Given the description of an element on the screen output the (x, y) to click on. 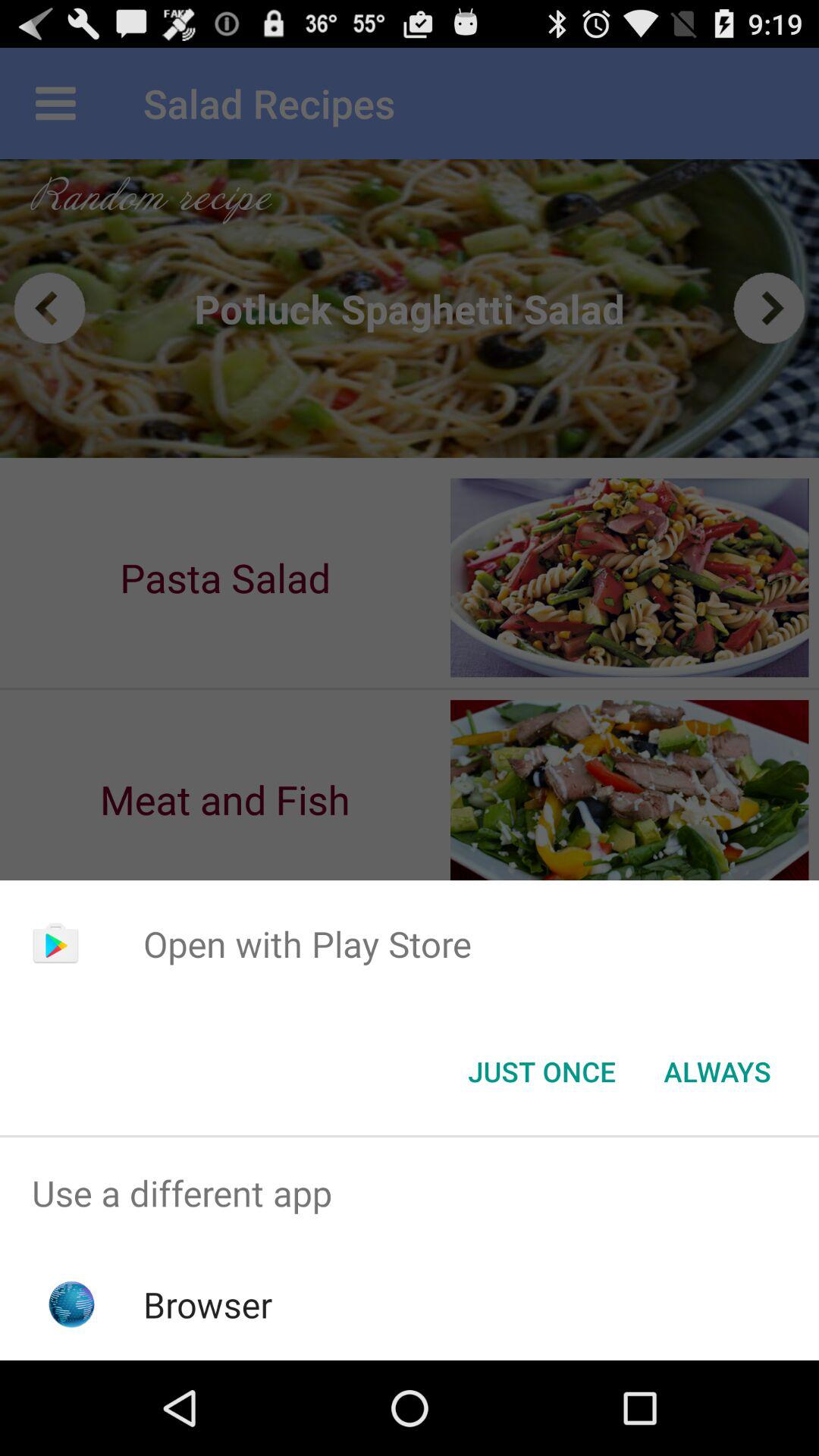
press the app below use a different icon (207, 1304)
